Given the description of an element on the screen output the (x, y) to click on. 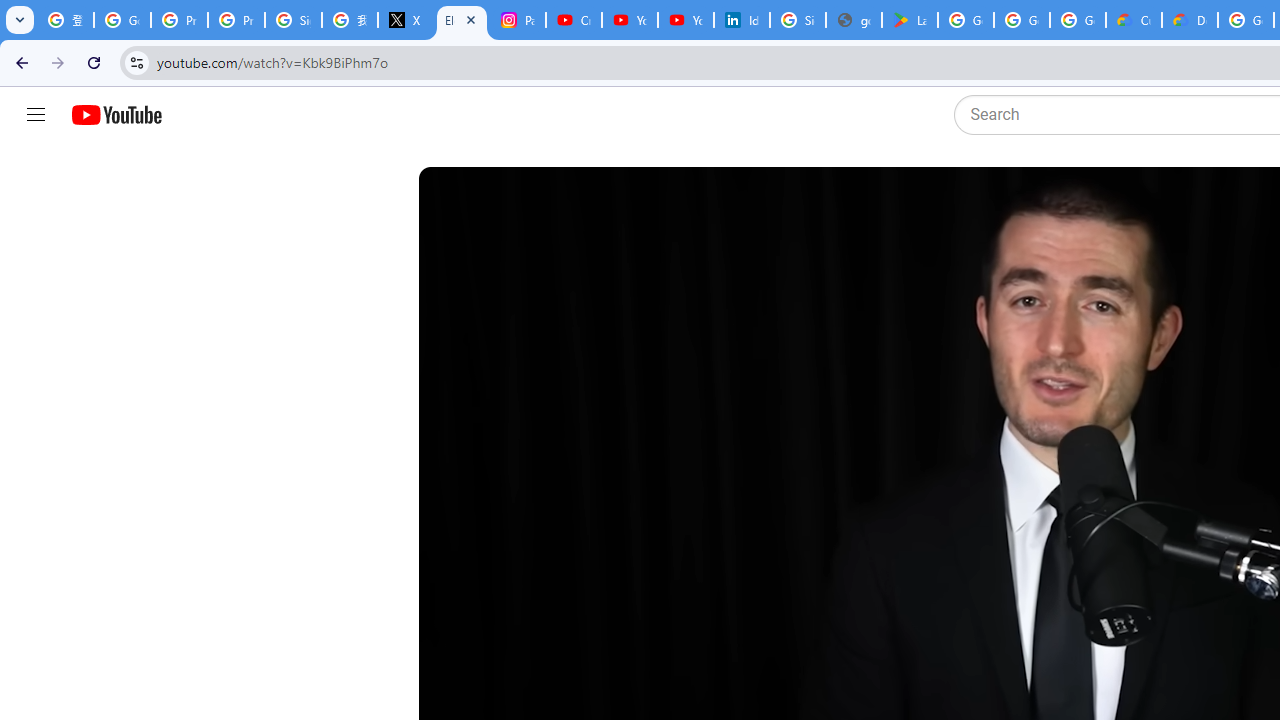
Identity verification via Persona | LinkedIn Help (742, 20)
Guide (35, 115)
google_privacy_policy_en.pdf (853, 20)
X (405, 20)
Customer Care | Google Cloud (1133, 20)
Sign in - Google Accounts (293, 20)
Last Shelter: Survival - Apps on Google Play (909, 20)
Privacy Help Center - Policies Help (235, 20)
